Given the description of an element on the screen output the (x, y) to click on. 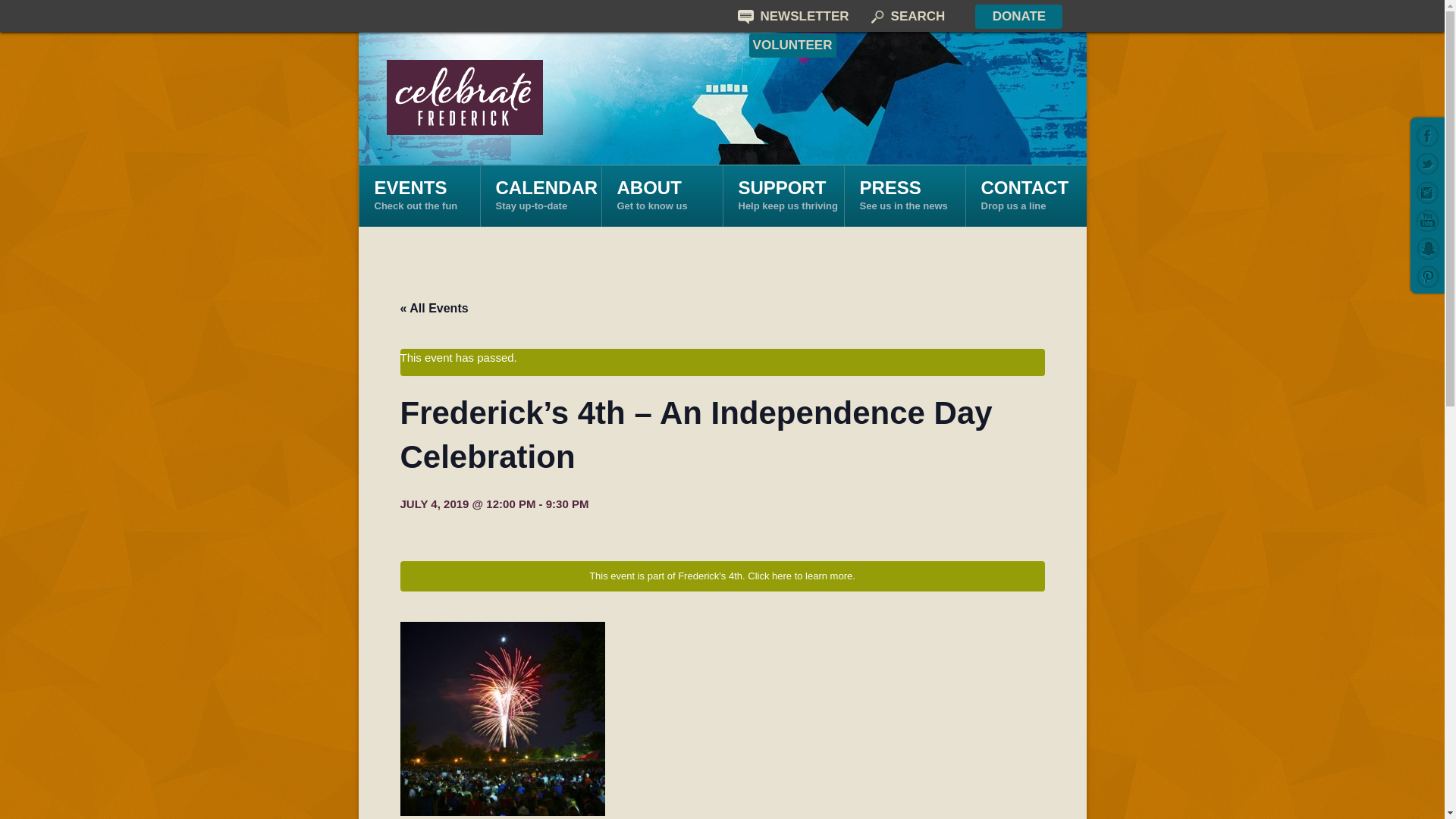
Newsletter (792, 14)
Search (905, 14)
Calendar: Stay up-to-date (539, 195)
Volunteer (792, 45)
Donate (1018, 16)
Support: Help keep us thriving (782, 195)
About: Get to know us (660, 195)
Twitter (782, 195)
SnapChat (660, 195)
YouTube (1427, 164)
